Given the description of an element on the screen output the (x, y) to click on. 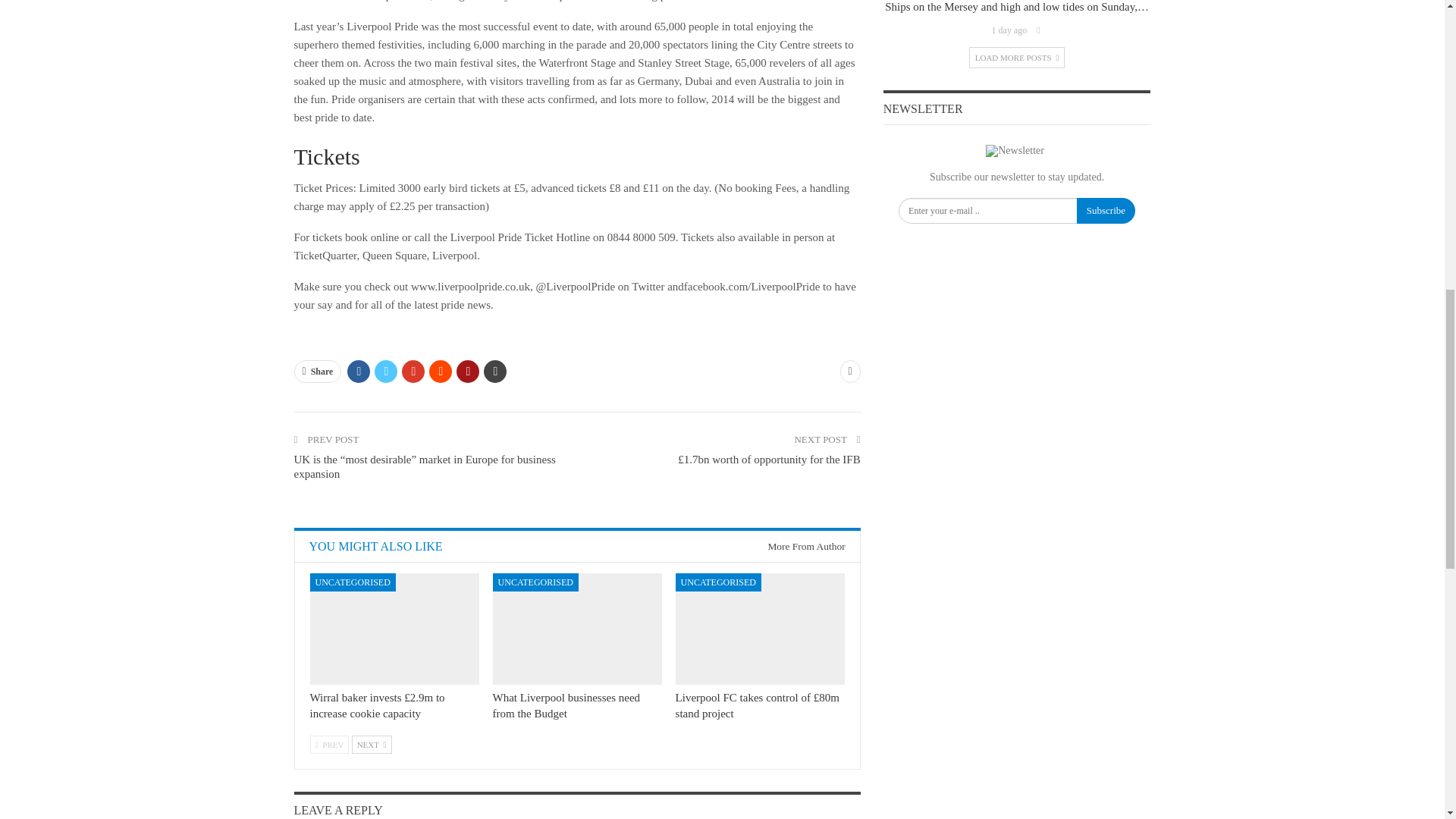
Next (371, 744)
Previous (328, 744)
What Liverpool businesses need from the Budget (577, 628)
